Given the description of an element on the screen output the (x, y) to click on. 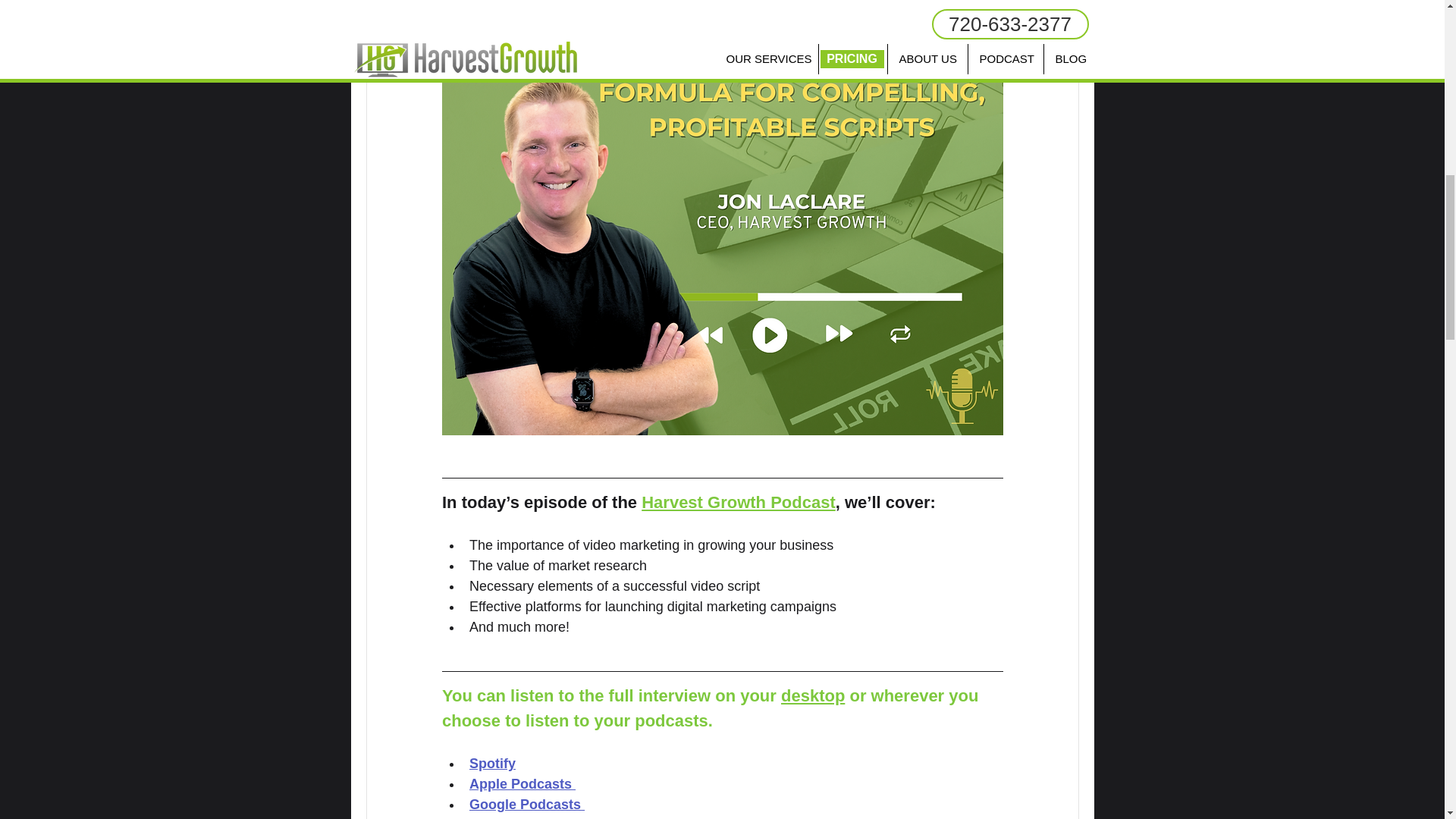
Harvest Growth Podcast (738, 502)
Google Podcasts (523, 804)
desktop (812, 695)
Spotify (491, 763)
Apple Podcasts (519, 783)
